Given the description of an element on the screen output the (x, y) to click on. 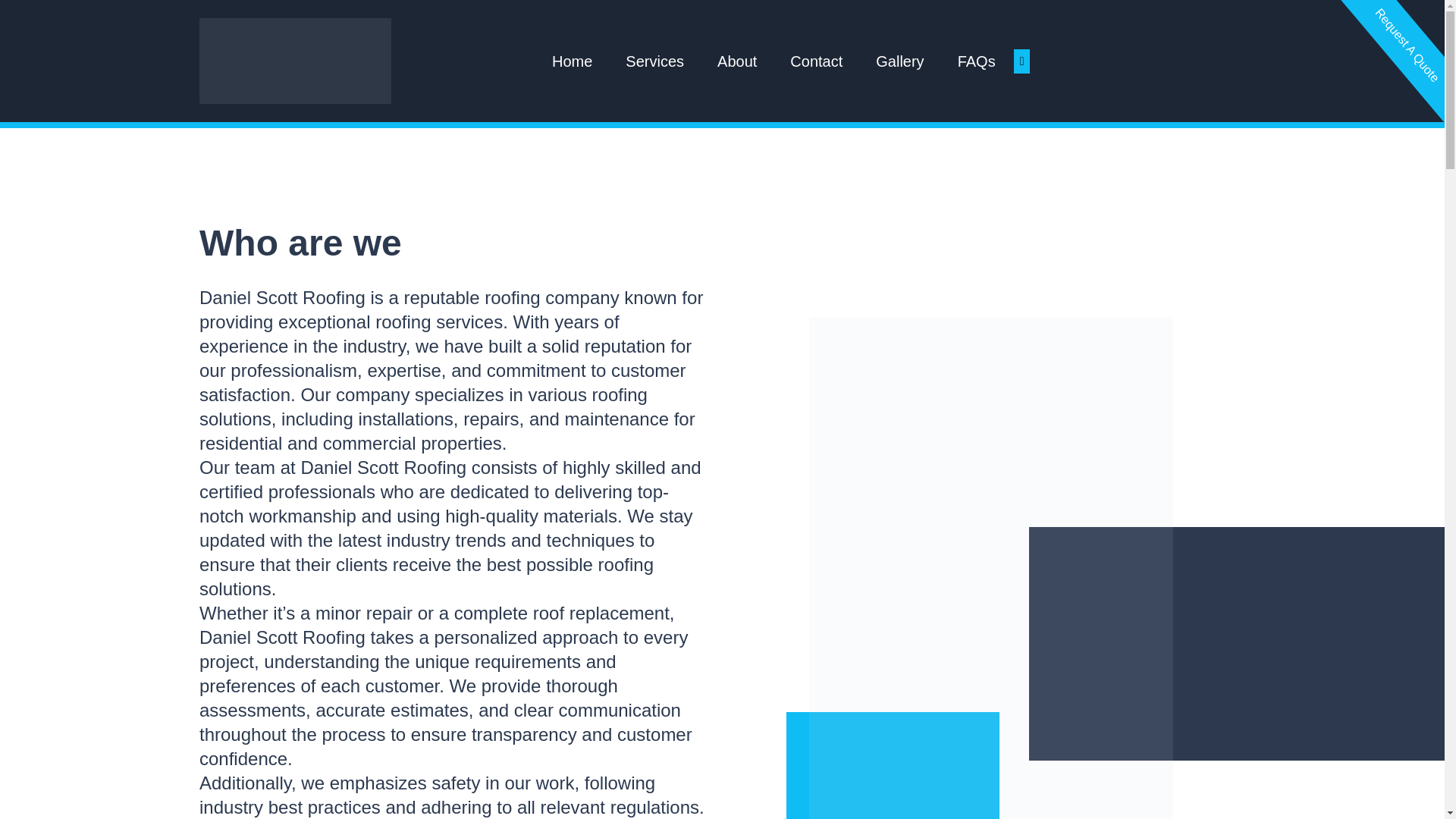
FAQs (976, 60)
Services (655, 60)
Contact (816, 60)
Home (572, 60)
About (736, 60)
Gallery (899, 60)
